Given the description of an element on the screen output the (x, y) to click on. 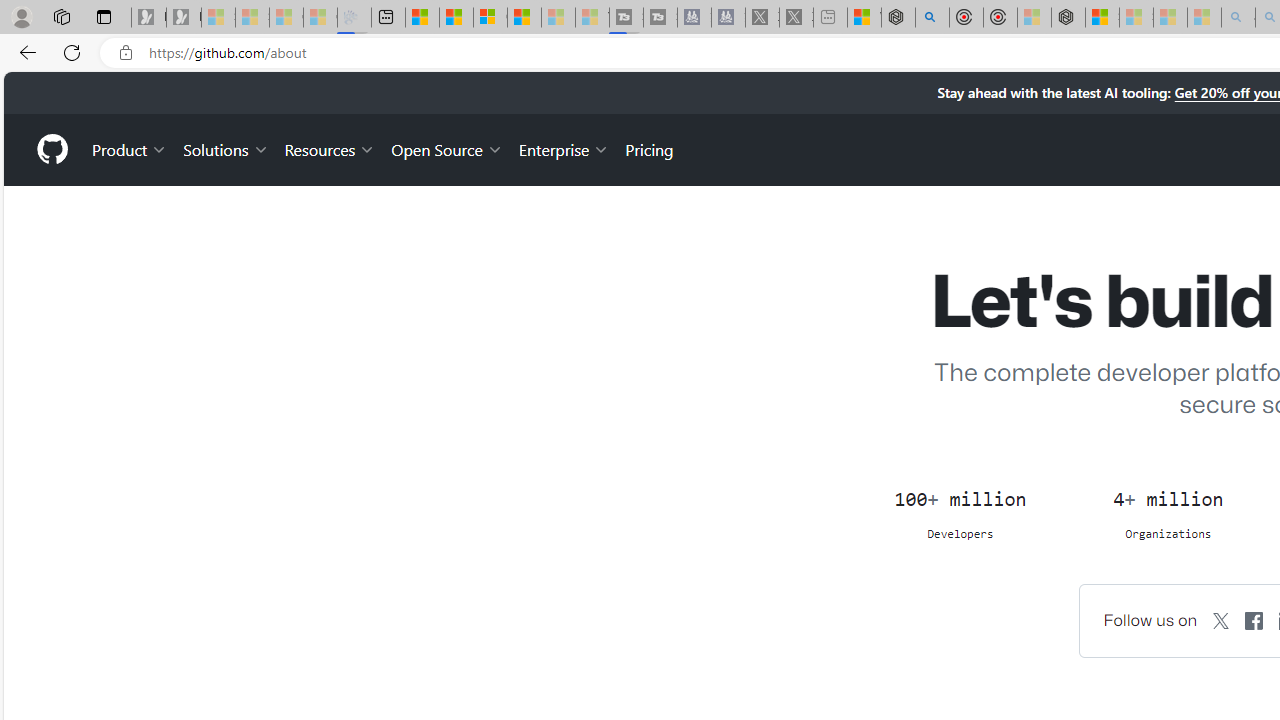
Nordace - Nordace Siena Is Not An Ordinary Backpack (1068, 17)
GitHub on X (1221, 620)
Overview (489, 17)
Pricing (649, 148)
Enterprise (563, 148)
Homepage (51, 149)
